Given the description of an element on the screen output the (x, y) to click on. 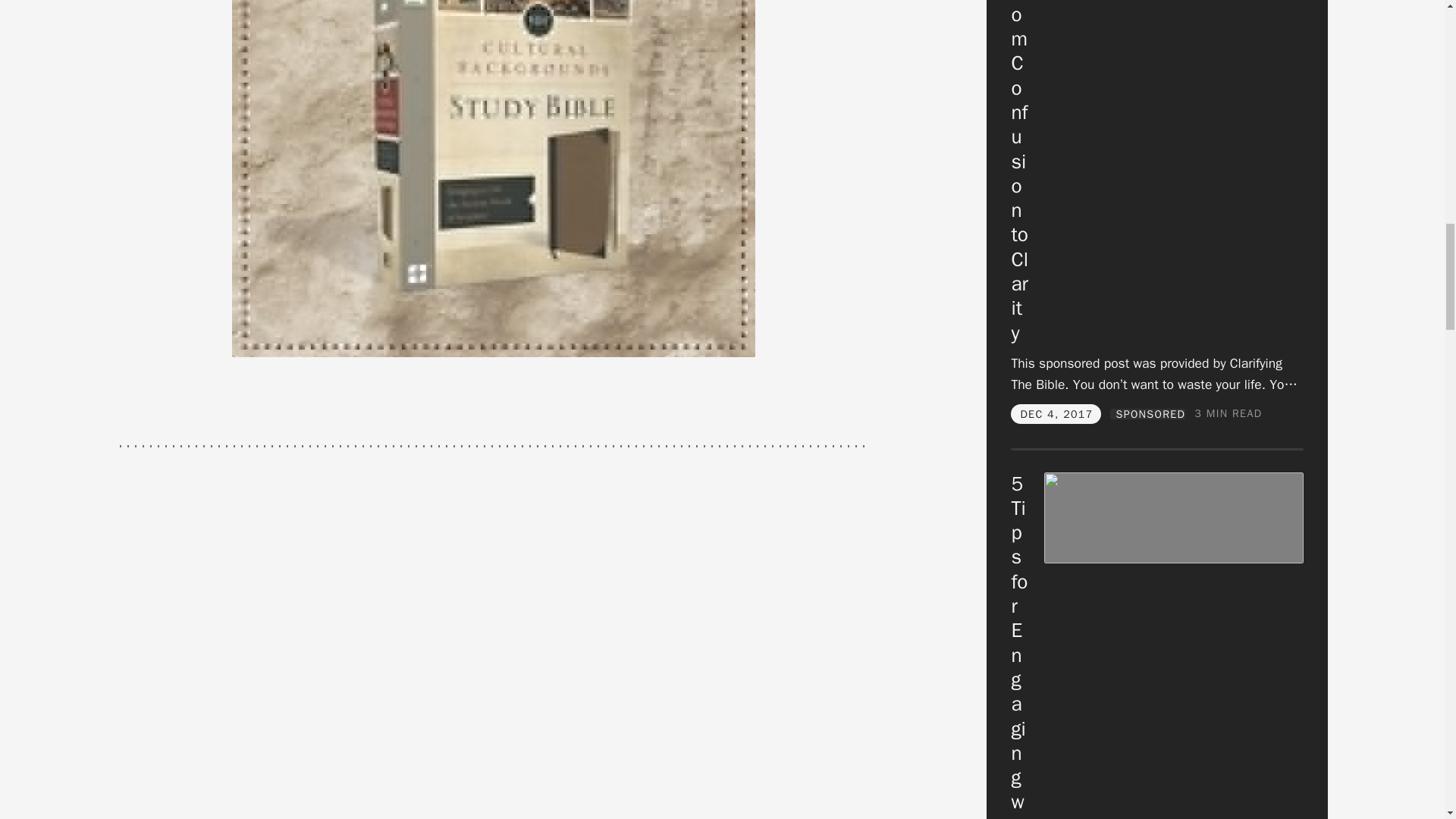
Dec 4, 2017 at 12:01 pm (1056, 413)
468 words (1227, 413)
SPONSORED (1147, 413)
